Given the description of an element on the screen output the (x, y) to click on. 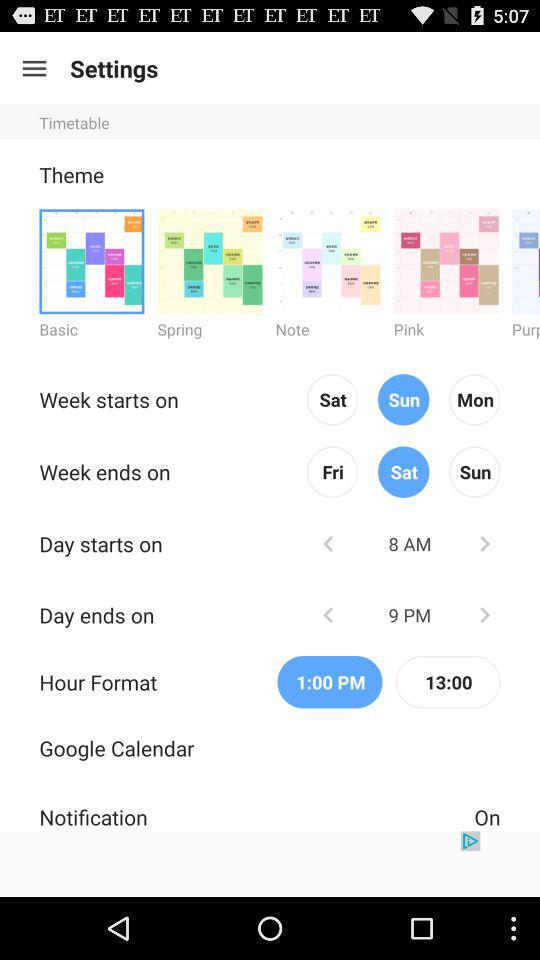
go to previous (328, 543)
